Given the description of an element on the screen output the (x, y) to click on. 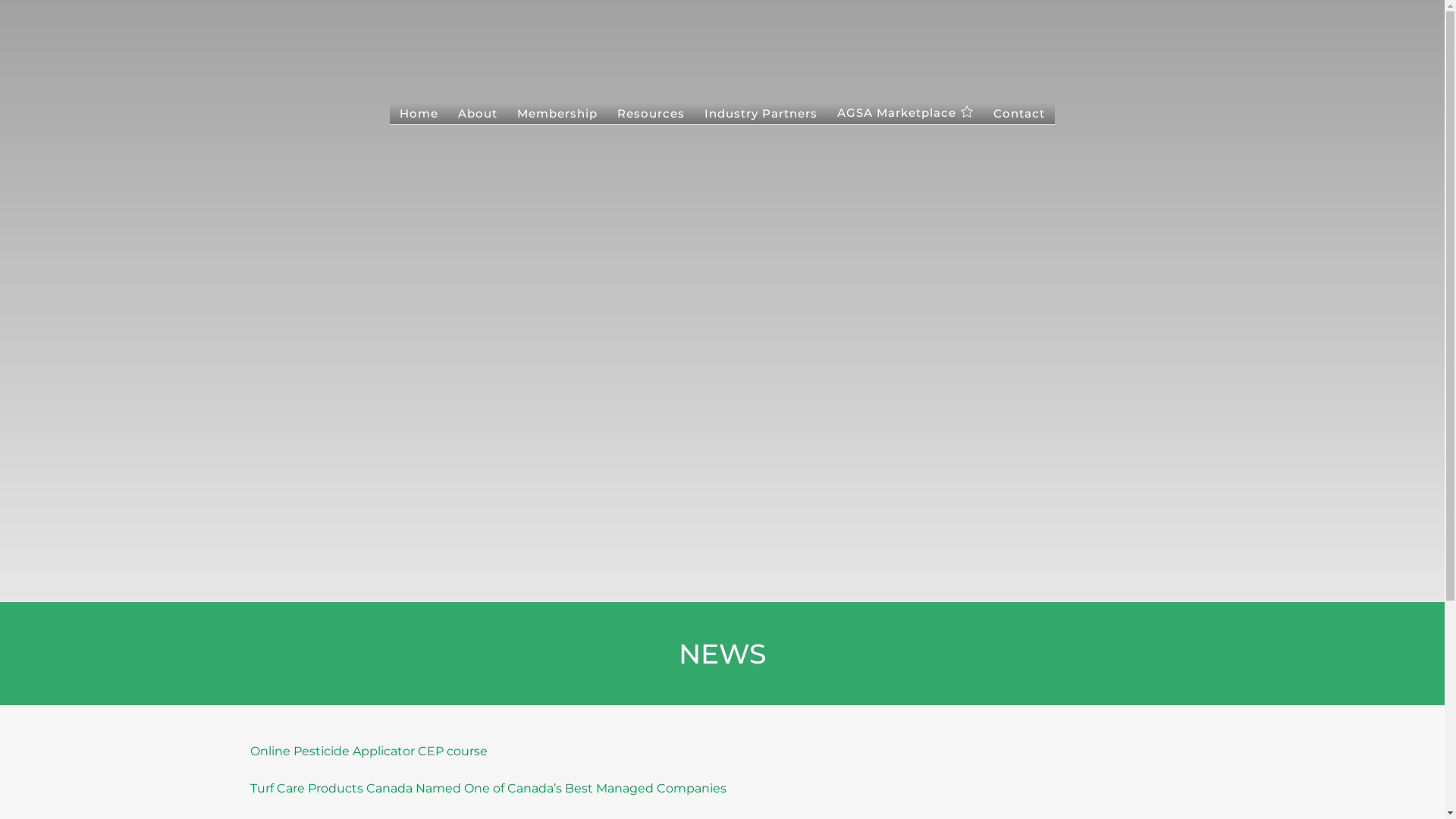
Resources Element type: text (650, 114)
Online Pesticide Applicator CEP course Element type: text (368, 750)
Membership Element type: text (557, 114)
AGSA Marketplace Element type: text (905, 114)
About Element type: text (477, 114)
Industry Partners Element type: text (760, 114)
Home Element type: text (418, 114)
Contact Element type: text (1018, 114)
